Given the description of an element on the screen output the (x, y) to click on. 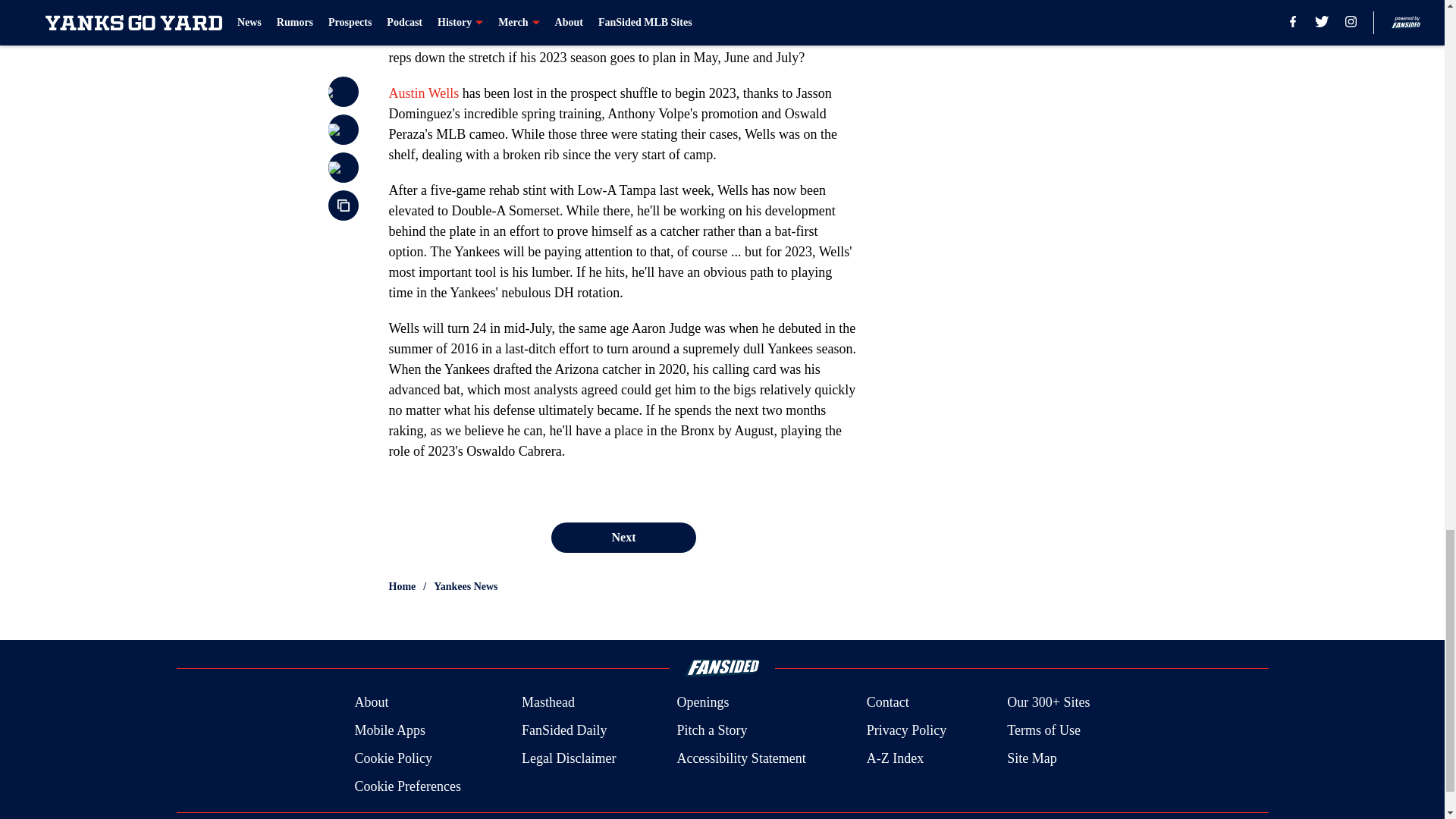
Contact (887, 702)
FanSided Daily (564, 730)
Masthead (548, 702)
Yankees News (465, 586)
Austin Wells (423, 92)
Home (401, 586)
Next (622, 537)
About (370, 702)
Openings (703, 702)
Mobile Apps (389, 730)
